Given the description of an element on the screen output the (x, y) to click on. 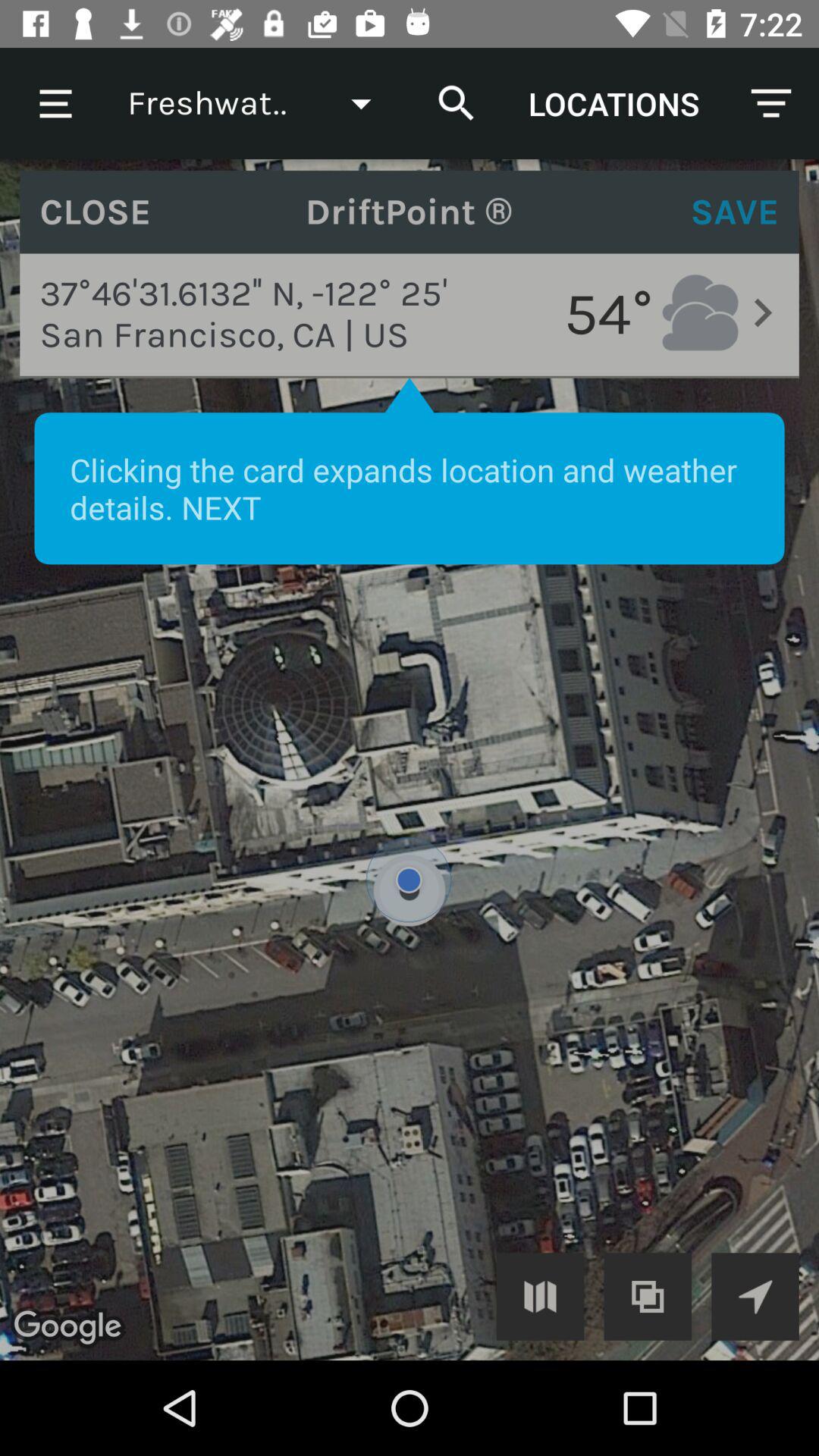
map (540, 1296)
